Given the description of an element on the screen output the (x, y) to click on. 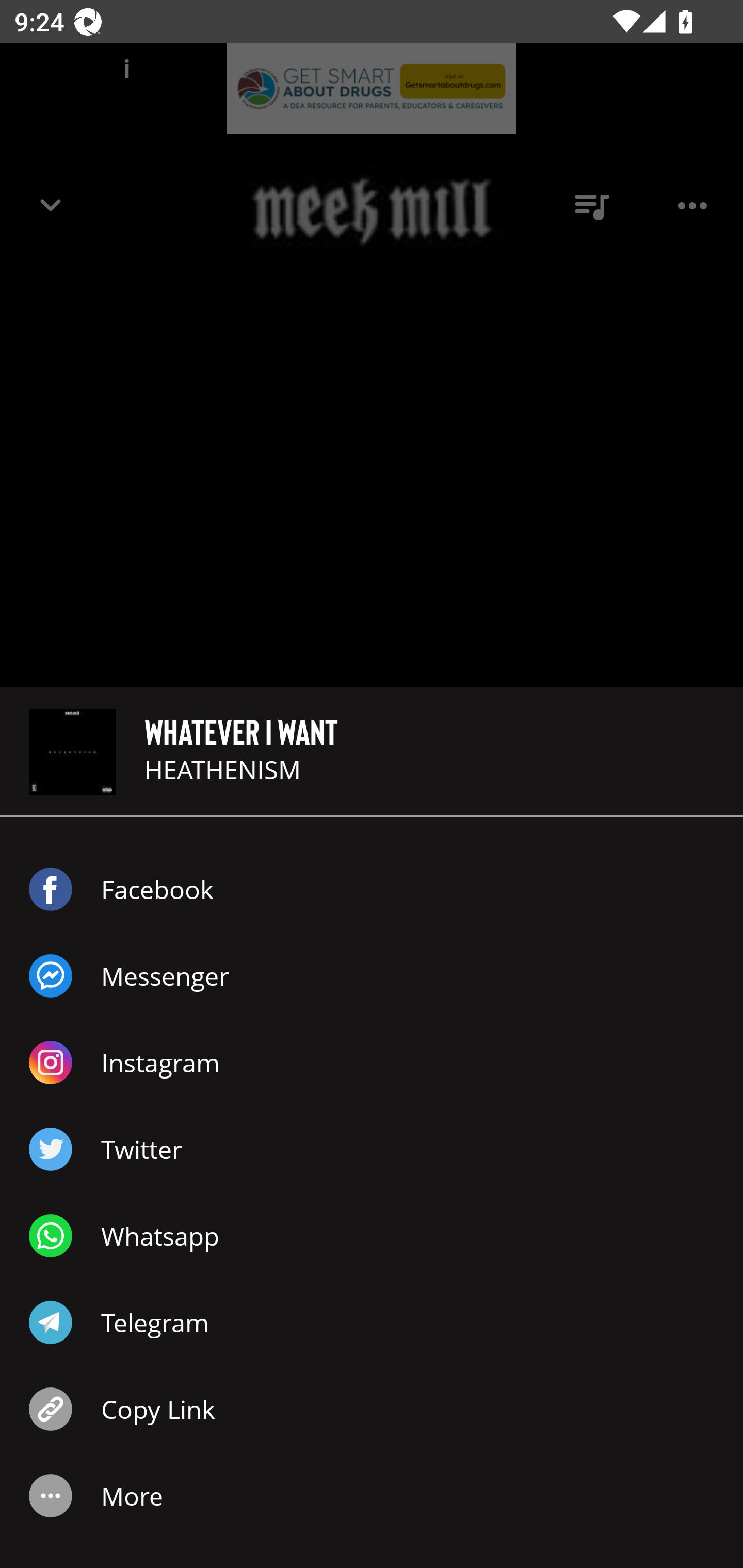
Facebook (371, 888)
Messenger (371, 975)
Instagram (371, 1062)
Twitter (371, 1149)
Whatsapp (371, 1236)
Telegram (371, 1322)
Copy Link (371, 1408)
More (371, 1495)
